Given the description of an element on the screen output the (x, y) to click on. 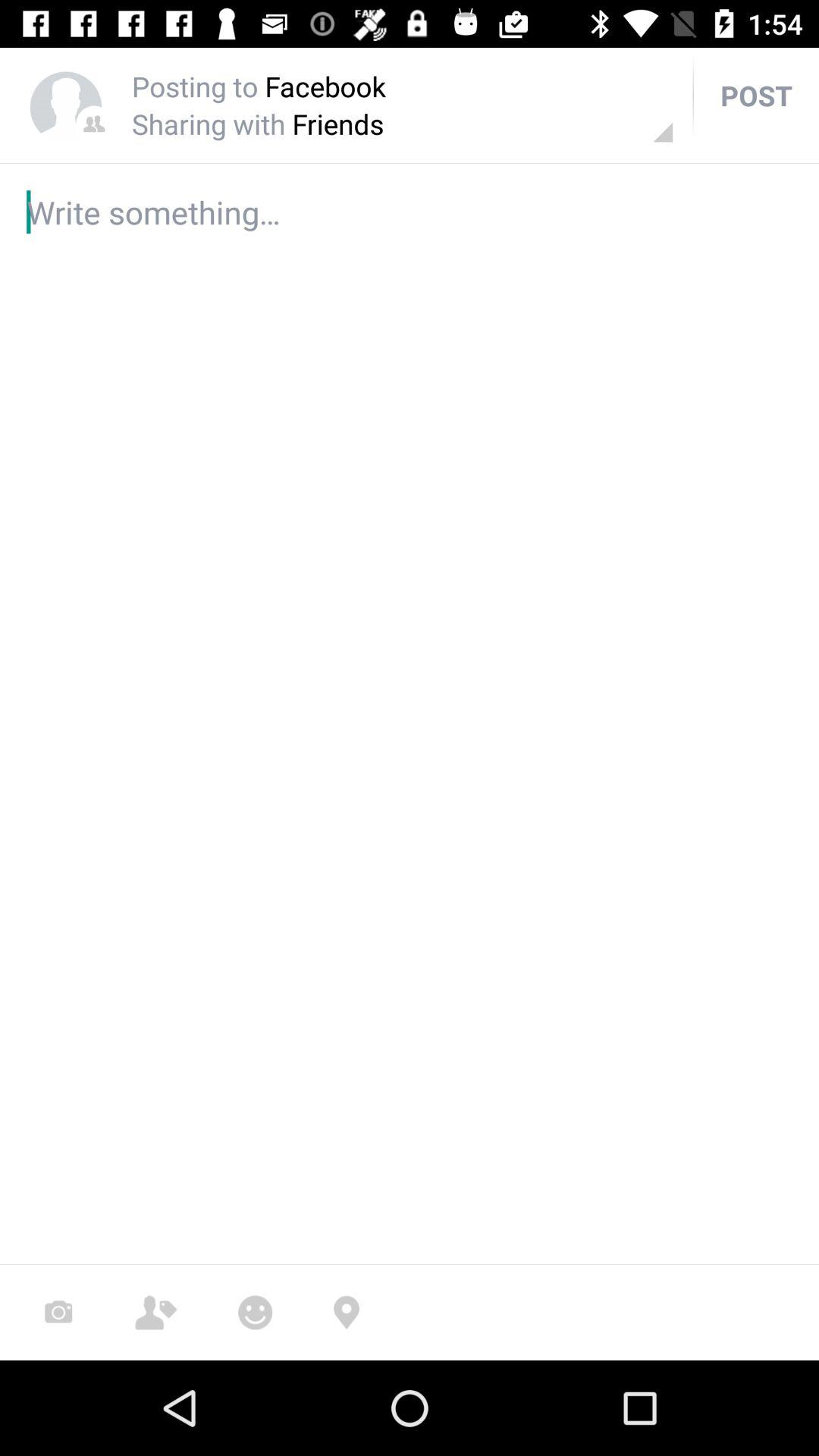
launch the post item (756, 95)
